Given the description of an element on the screen output the (x, y) to click on. 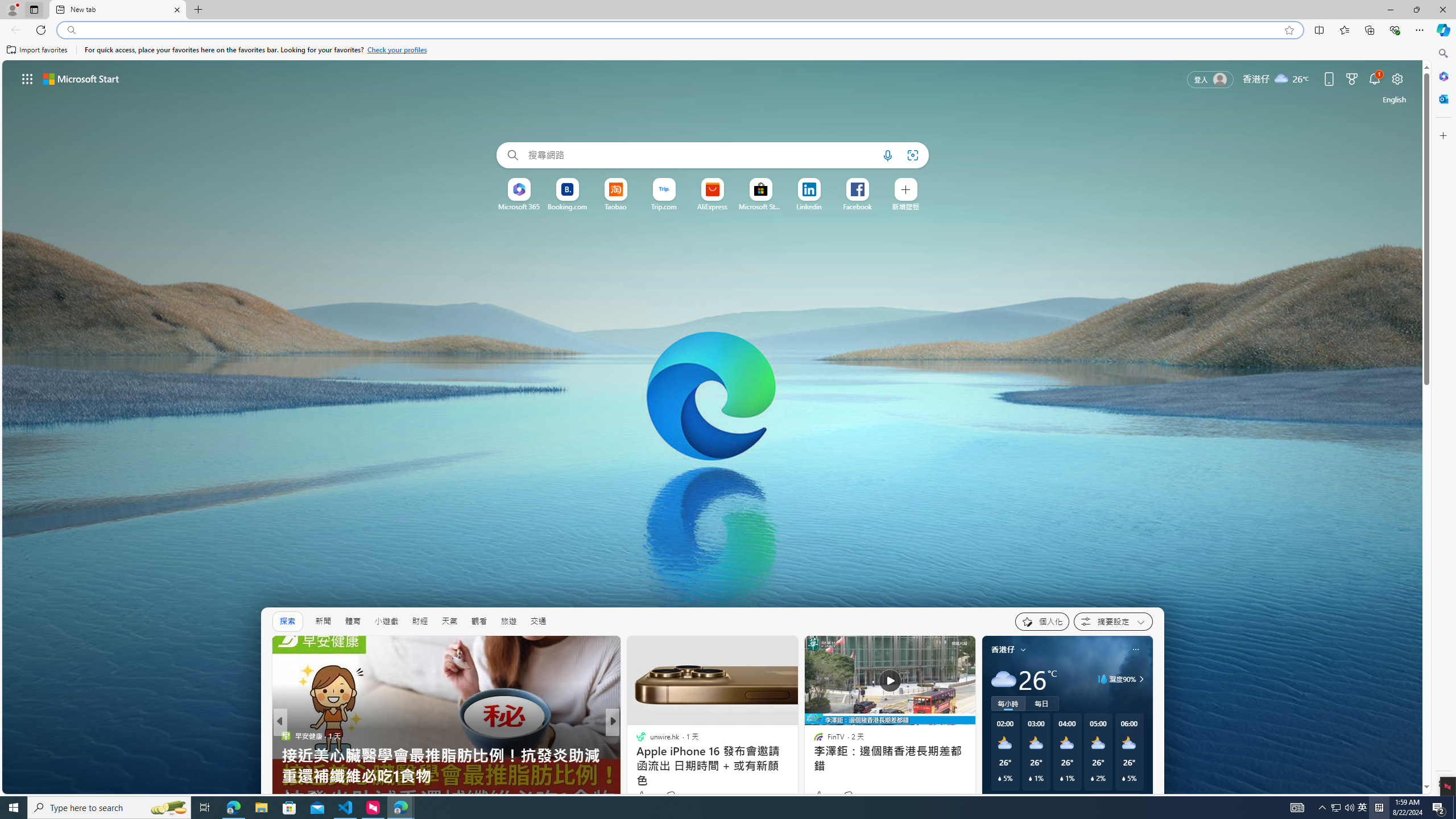
Linkedin (808, 206)
FinTV (635, 755)
United States (English) (1393, 99)
Class: weather-arrow-glyph (1141, 678)
